Given the description of an element on the screen output the (x, y) to click on. 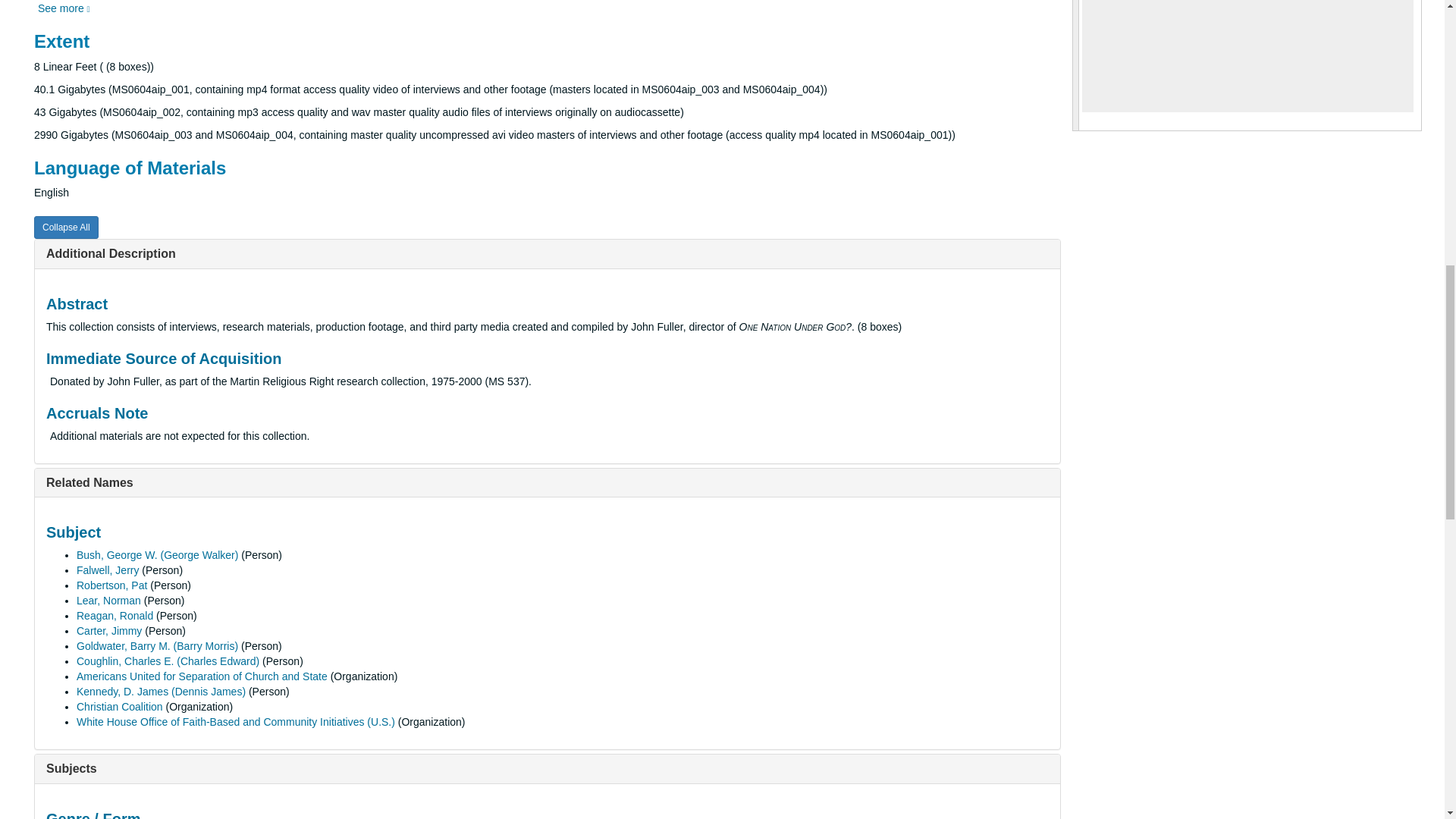
Falwell, Jerry (107, 570)
Christian Coalition (120, 706)
Lear, Norman (109, 600)
Collapse All (66, 227)
See more (63, 8)
Carter, Jimmy (109, 630)
Americans United for Separation of Church and State (202, 676)
Robertson, Pat (112, 585)
Reagan, Ronald (114, 615)
Additional Description (111, 253)
Related Names (89, 481)
